Given the description of an element on the screen output the (x, y) to click on. 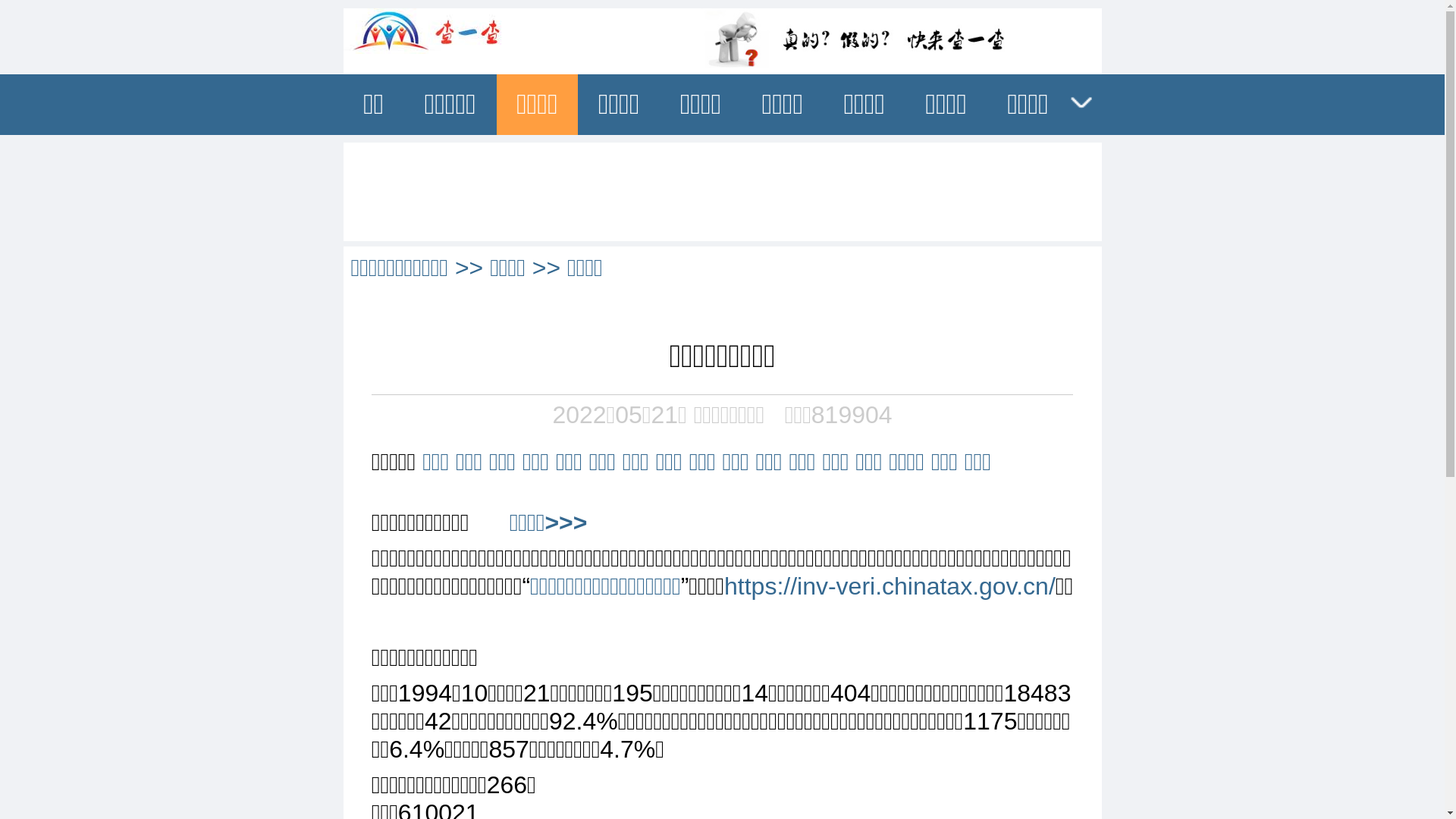
https://inv-veri.chinatax.gov.cn/ Element type: text (889, 585)
Advertisement Element type: hover (721, 188)
